Given the description of an element on the screen output the (x, y) to click on. 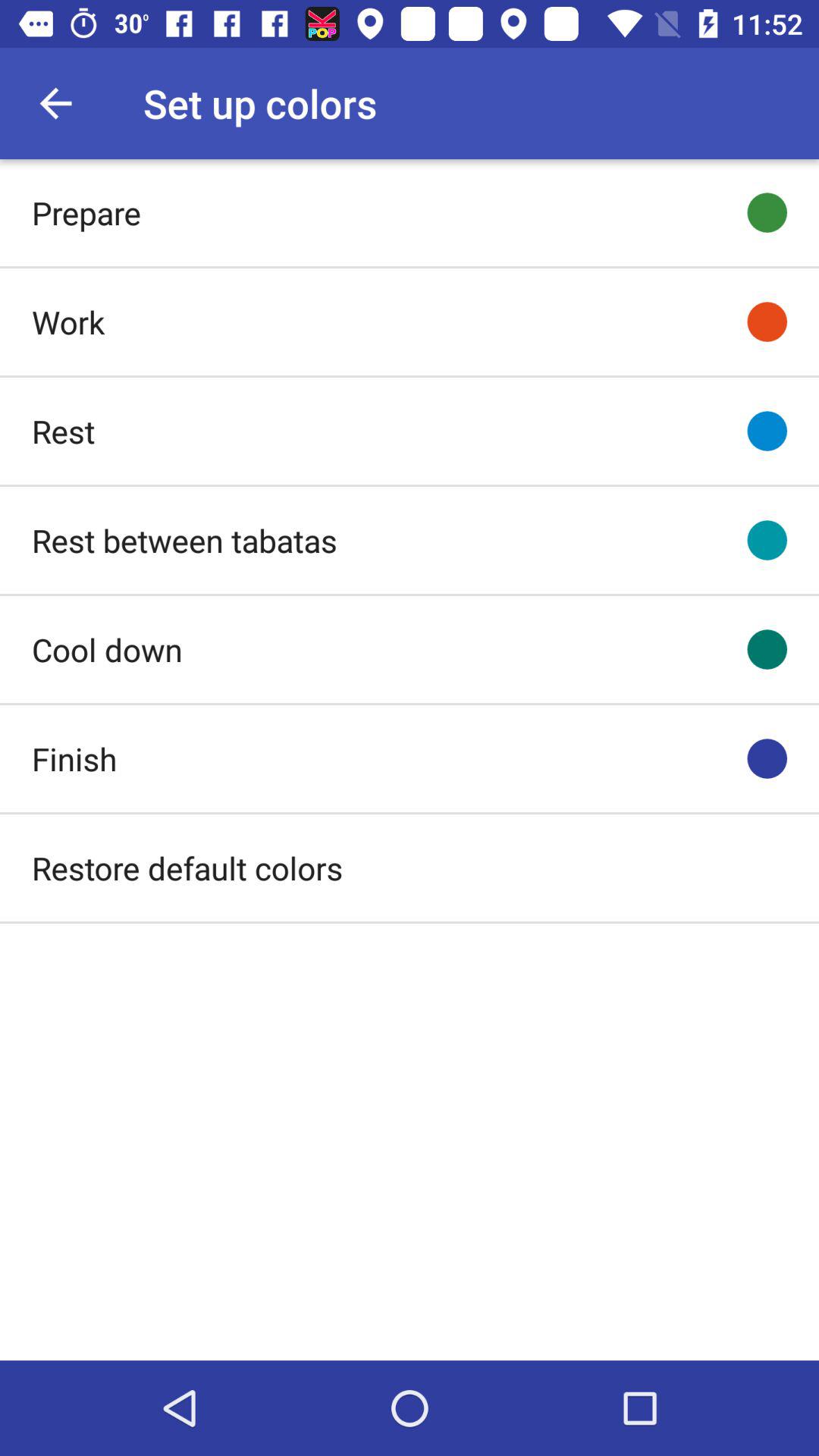
open the item next to rest between tabatas item (767, 540)
